Given the description of an element on the screen output the (x, y) to click on. 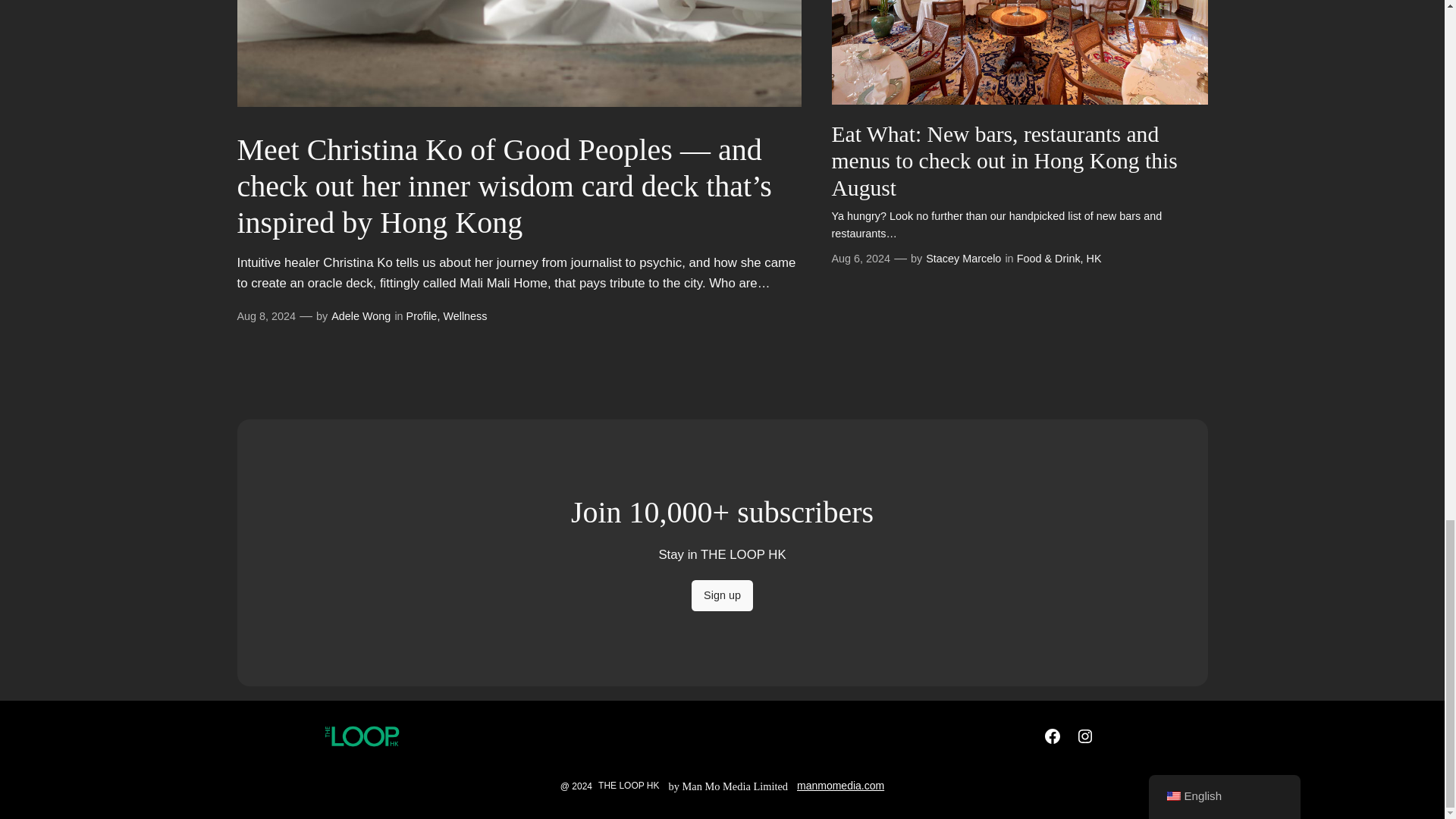
Adele Wong (360, 316)
Stacey Marcelo (963, 258)
Wellness (464, 316)
HK (1094, 258)
Aug 8, 2024 (265, 316)
Aug 6, 2024 (860, 258)
Sign up (721, 594)
Instagram (1084, 736)
Profile (422, 316)
